Given the description of an element on the screen output the (x, y) to click on. 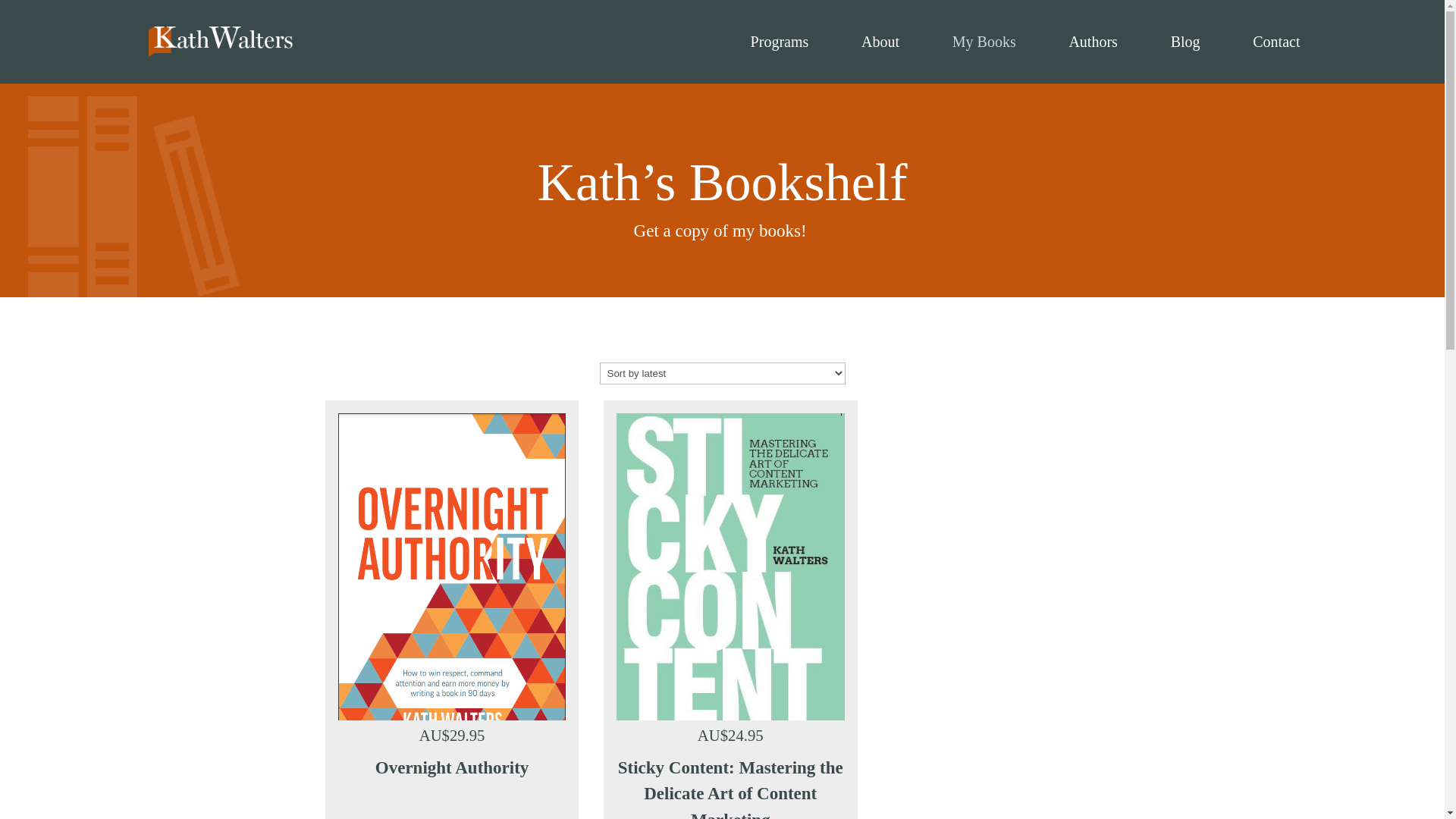
Authors Element type: text (1092, 59)
Blog Element type: text (1185, 59)
My Books Element type: text (984, 59)
Programs Element type: text (779, 59)
Contact Element type: text (1275, 59)
About Element type: text (880, 59)
